Given the description of an element on the screen output the (x, y) to click on. 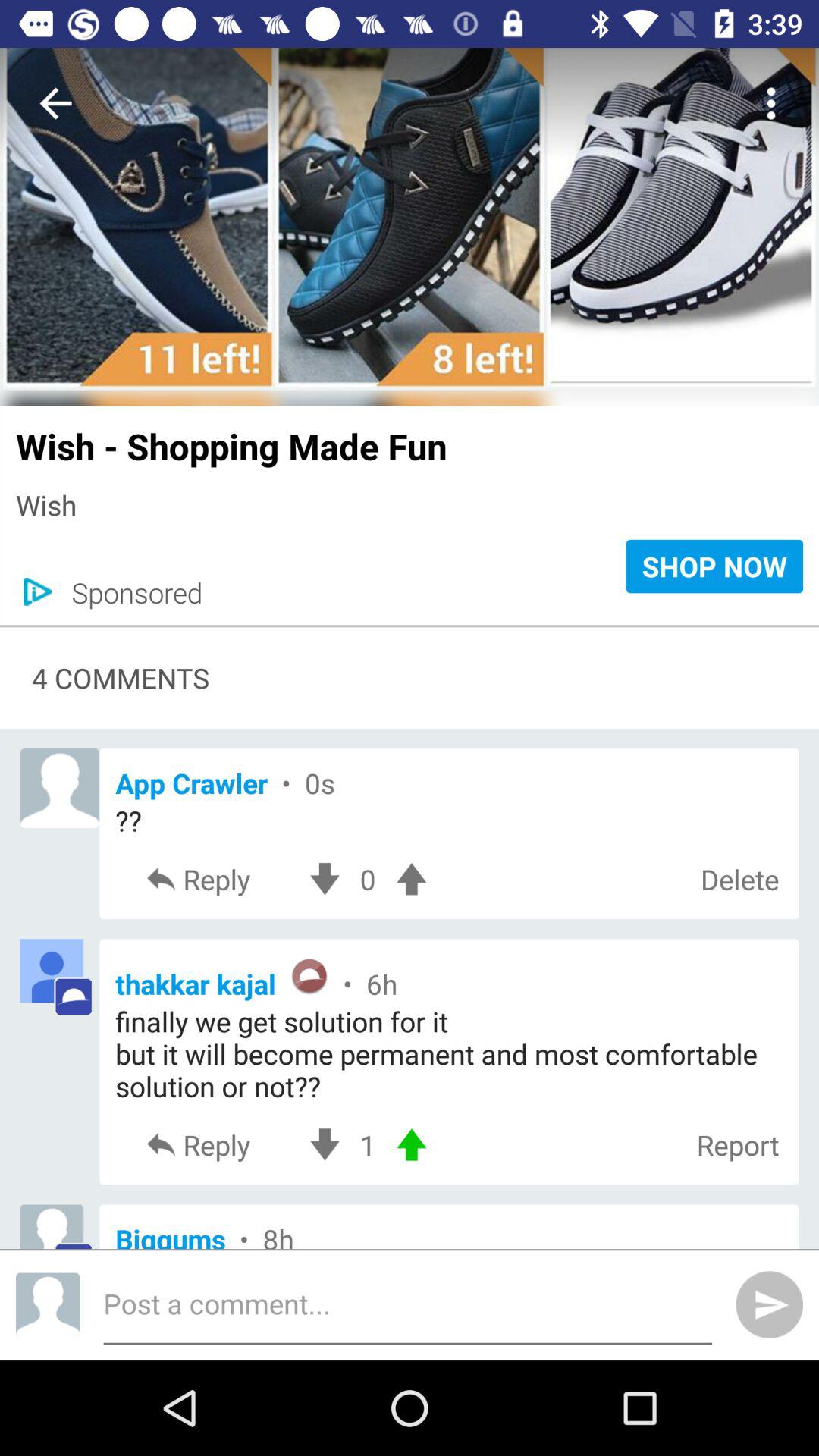
open the icon above the finally we get icon (449, 978)
